Given the description of an element on the screen output the (x, y) to click on. 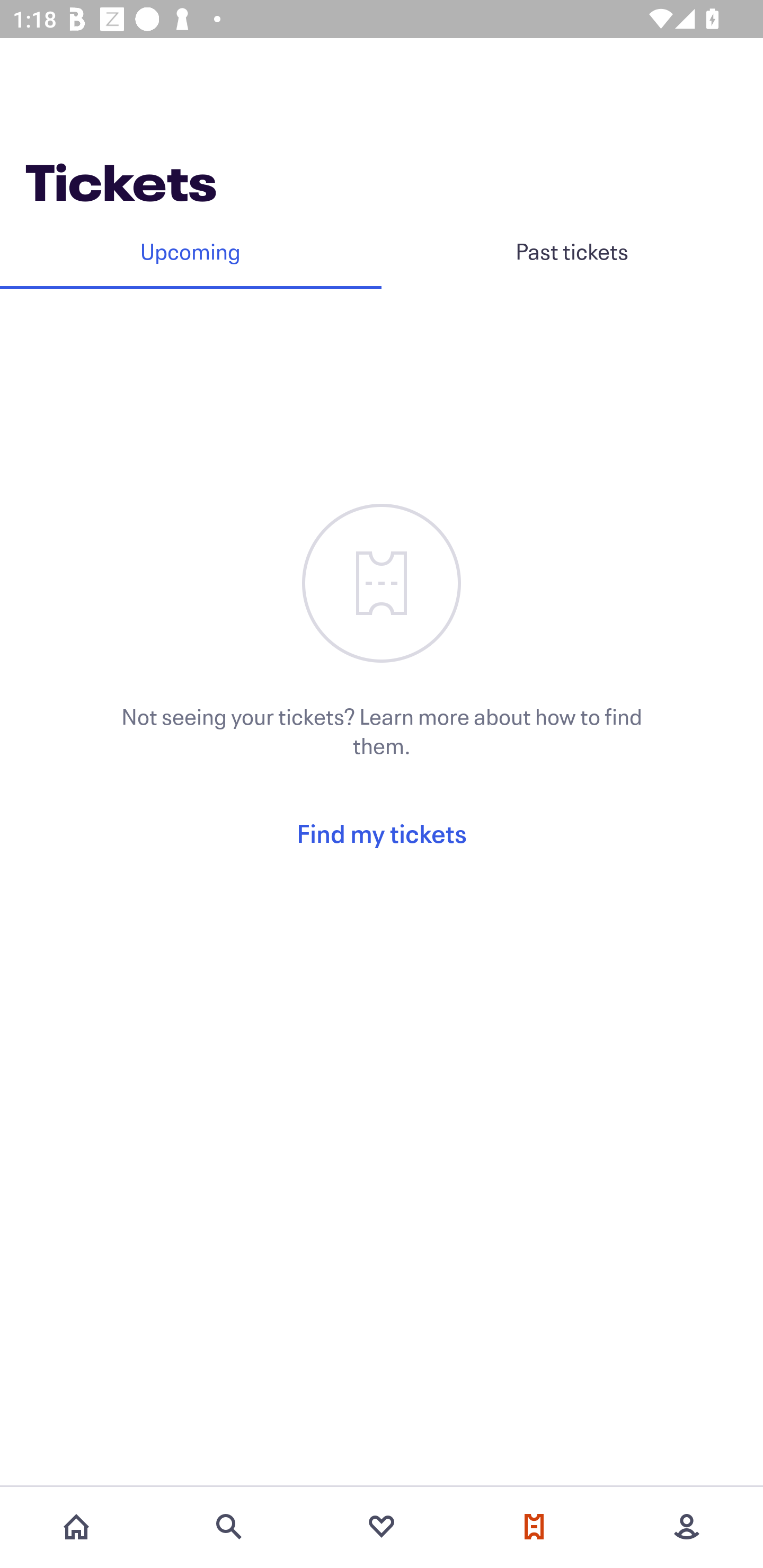
Past tickets (572, 250)
Find my tickets (381, 833)
Home (76, 1526)
Search events (228, 1526)
Favorites (381, 1526)
Tickets (533, 1526)
More (686, 1526)
